Given the description of an element on the screen output the (x, y) to click on. 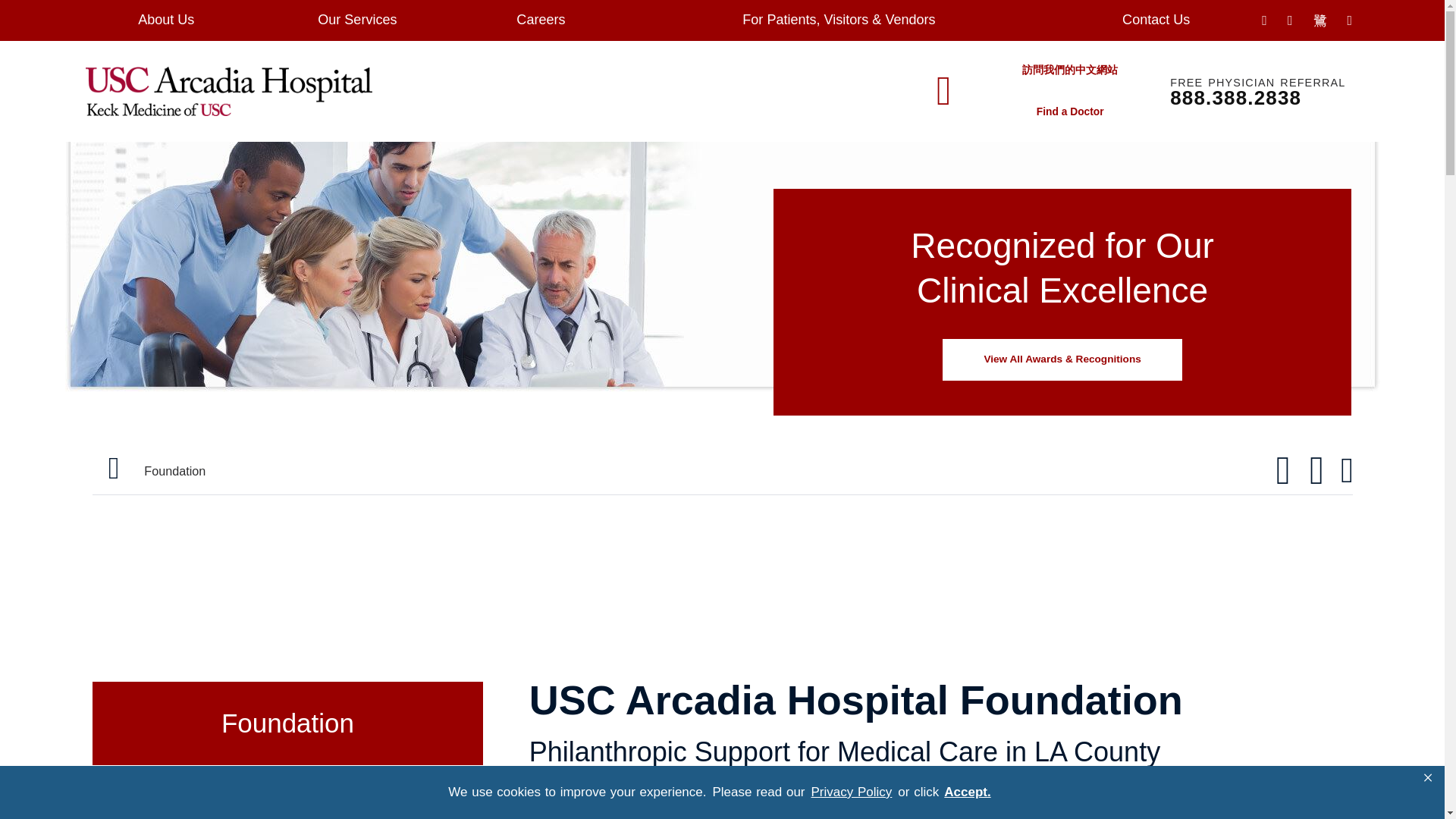
Our Services (357, 20)
About Us (165, 20)
Careers (540, 20)
Accept. (966, 792)
Privacy Policy (851, 791)
USC Arcadia Hospital (227, 91)
Contact Us (1156, 20)
